Given the description of an element on the screen output the (x, y) to click on. 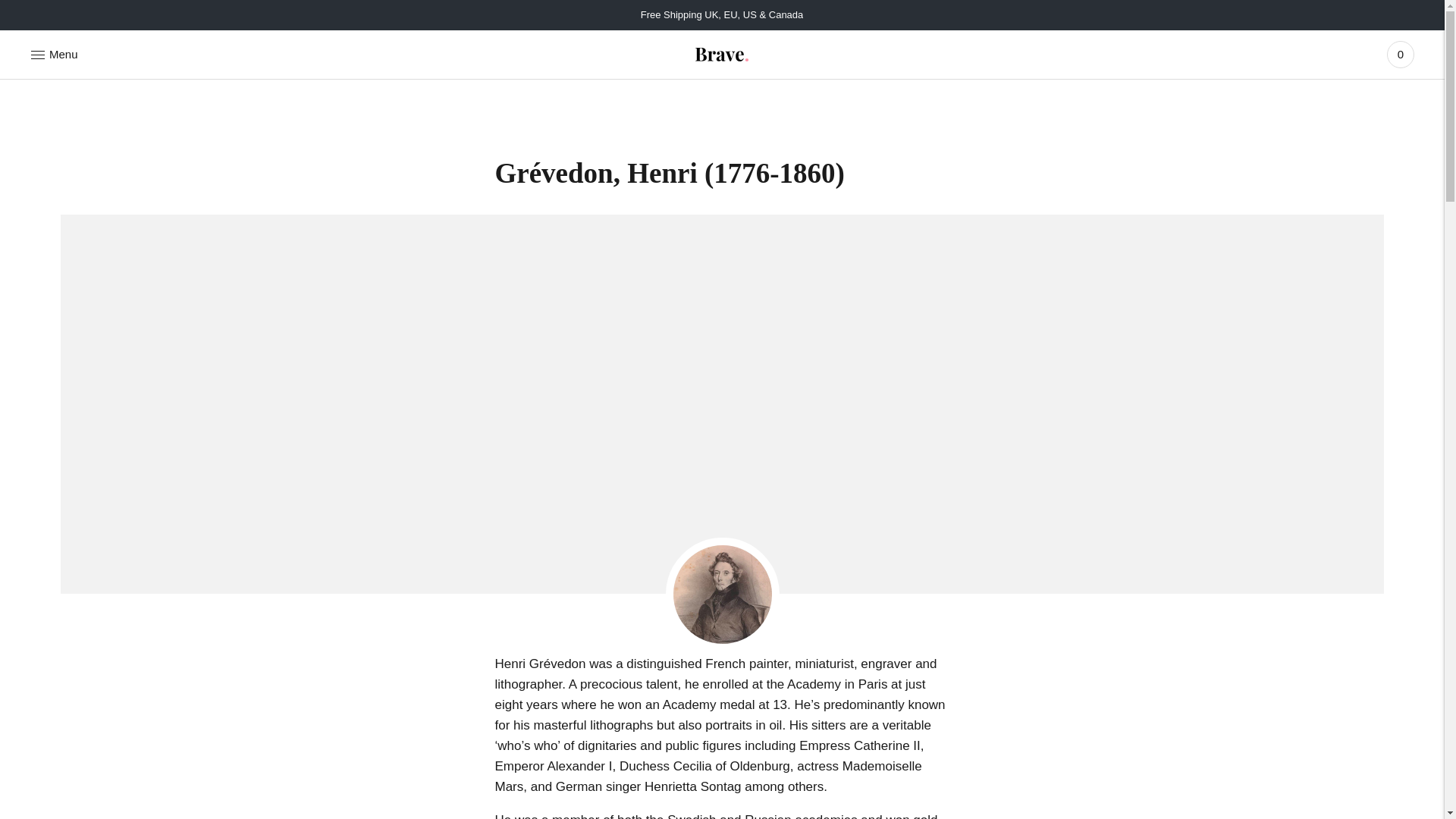
0 (1400, 54)
